Given the description of an element on the screen output the (x, y) to click on. 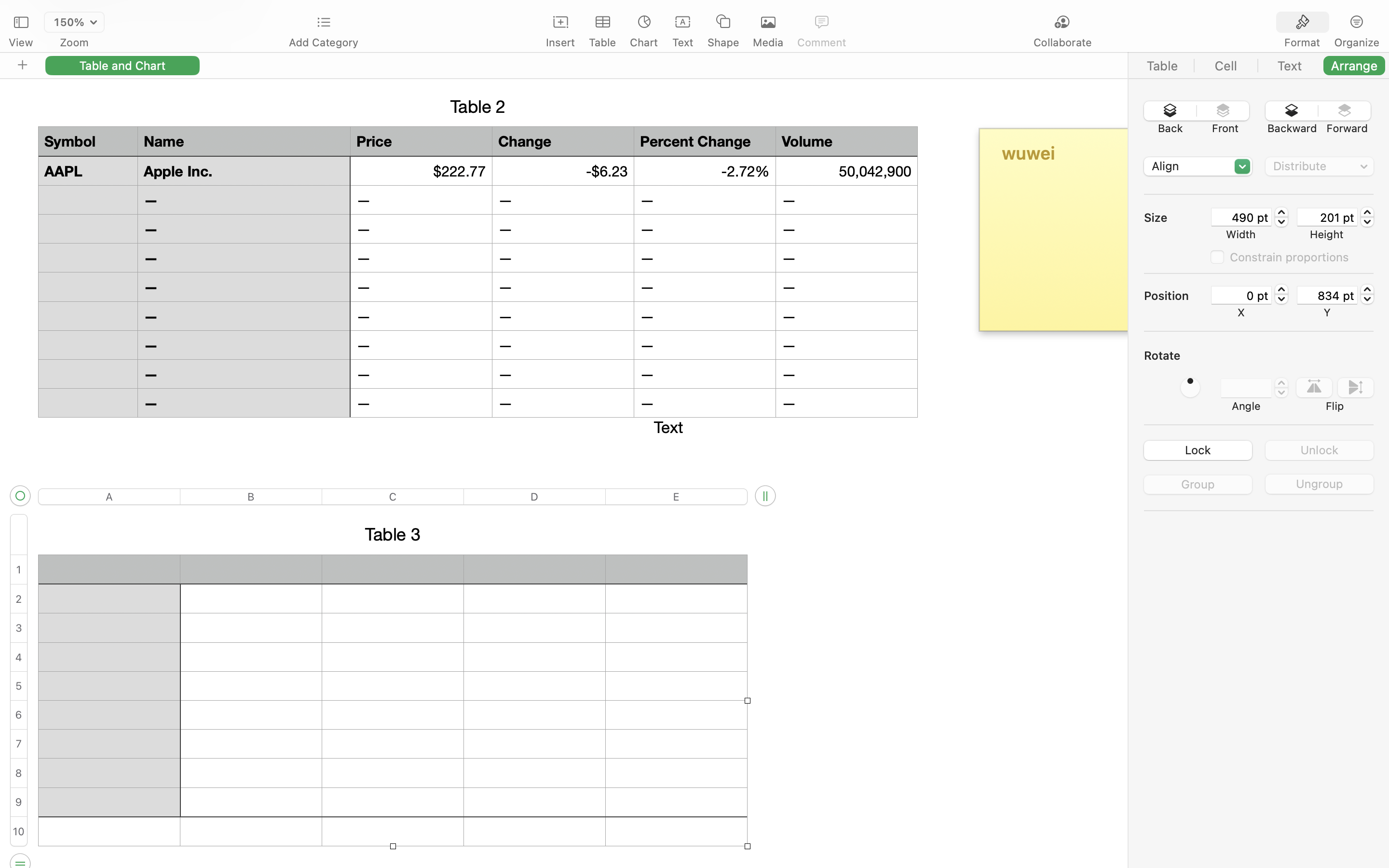
Media Element type: AXStaticText (767, 42)
0 pt Element type: AXTextField (1241, 294)
Untitled Element type: AXStaticText (667, 12)
201 pt Element type: AXTextField (1327, 216)
Organize Element type: AXStaticText (1356, 42)
